Given the description of an element on the screen output the (x, y) to click on. 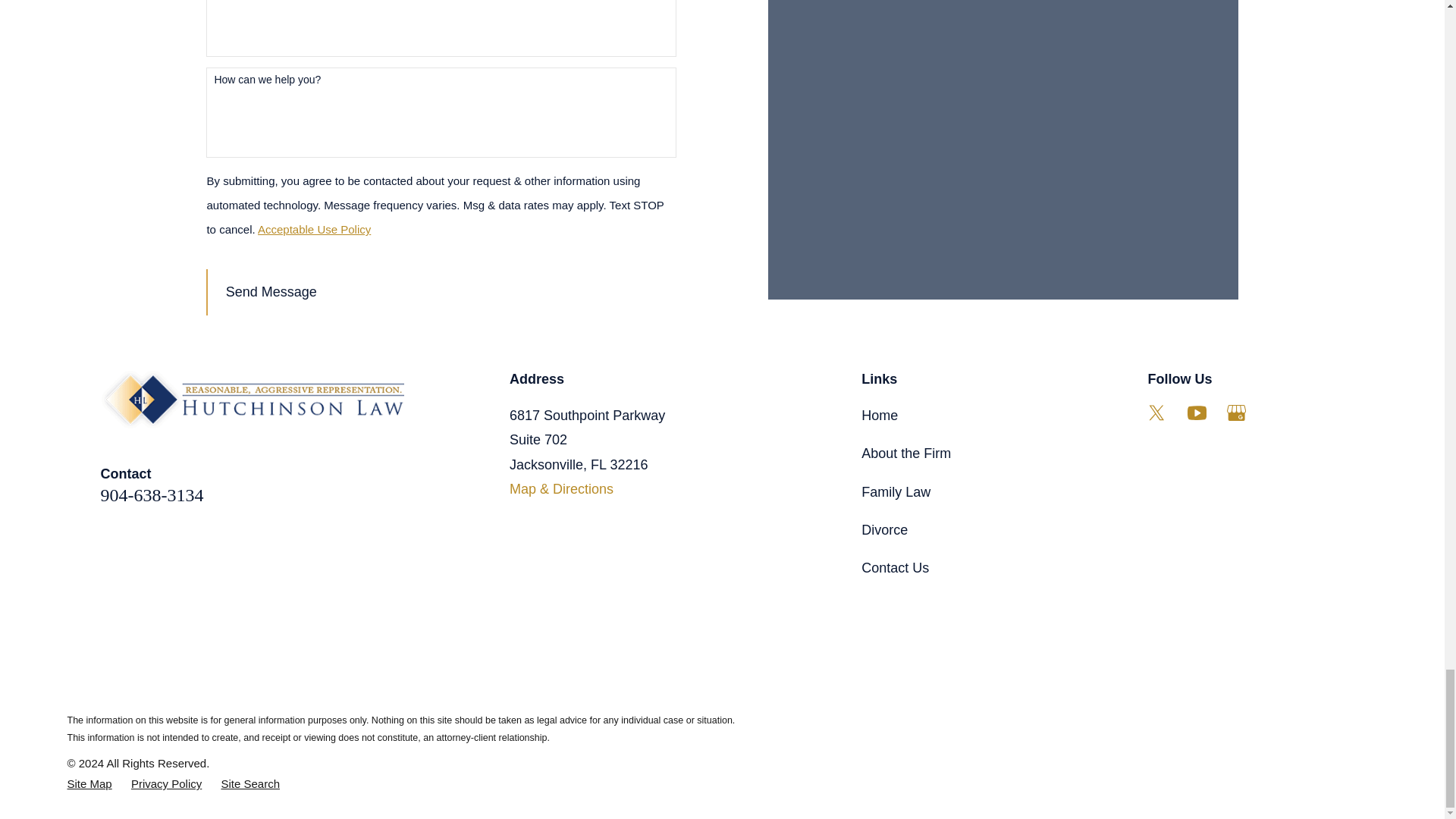
Twitter (1156, 412)
YouTube (1197, 412)
Home (251, 399)
Google Business Profile (1236, 412)
